Given the description of an element on the screen output the (x, y) to click on. 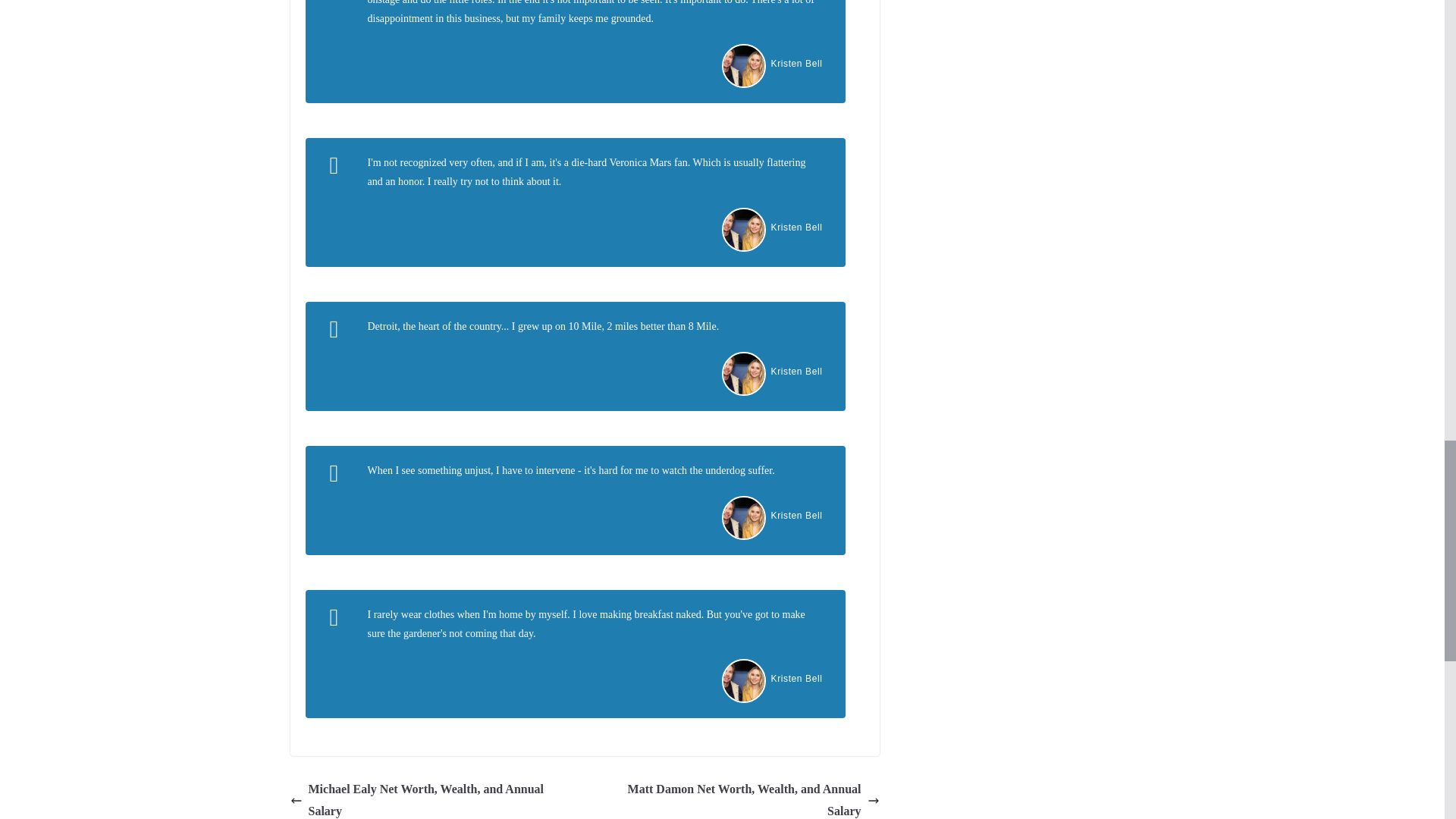
Matt Damon Net Worth, Wealth, and Annual Salary (735, 798)
Michael Ealy Net Worth, Wealth, and Annual Salary (432, 798)
